Given the description of an element on the screen output the (x, y) to click on. 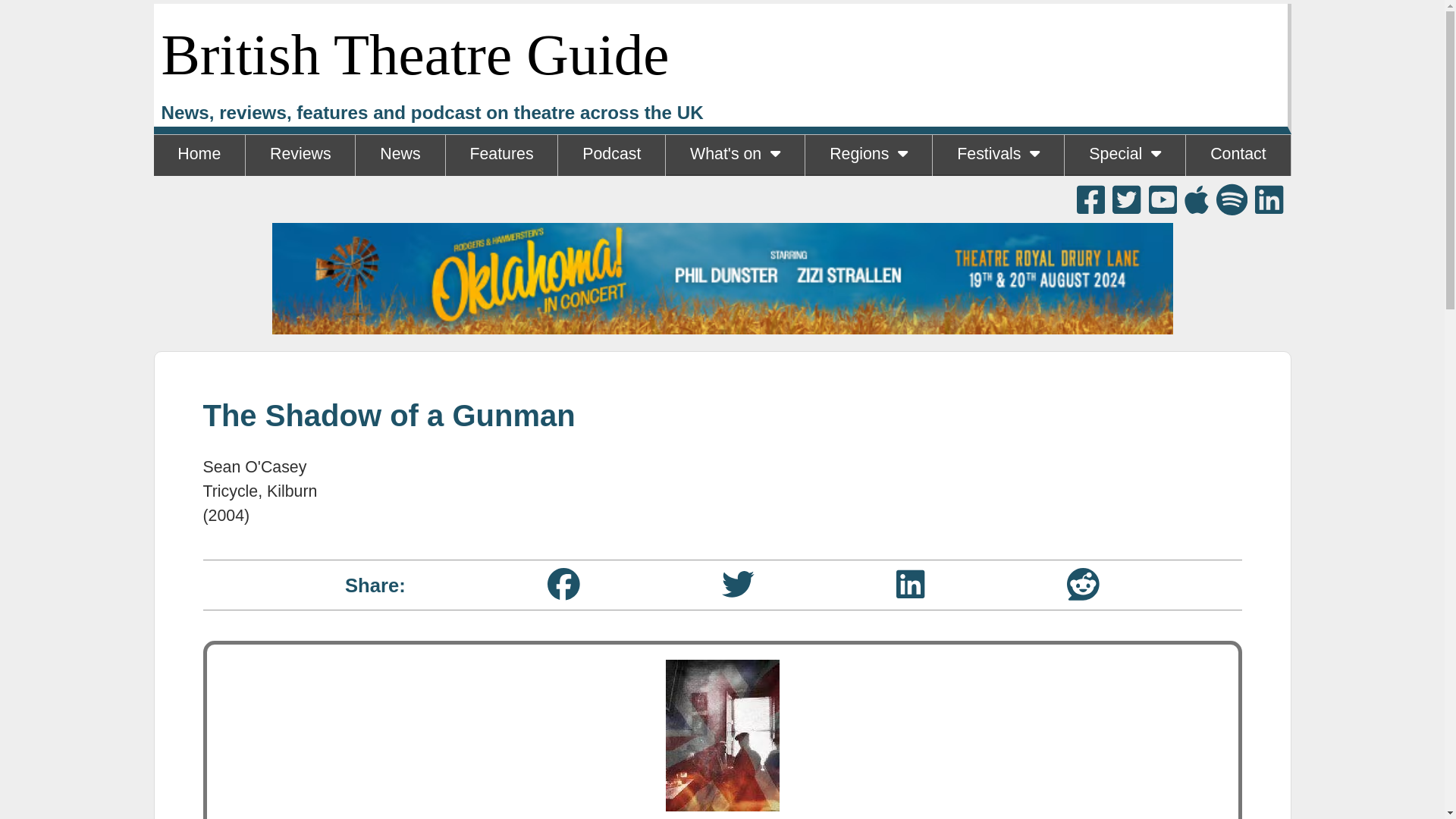
Regions   (868, 155)
Follow us on Facebook (1091, 199)
North West (868, 196)
Edinburgh (997, 196)
News (399, 154)
Twitter (738, 584)
British Theatre Guide (414, 54)
LinkedIn (910, 584)
What's on   (735, 155)
Listings (734, 196)
Reddit (1083, 584)
Facebook (563, 584)
Reviews (300, 154)
Festivals   (998, 155)
Home (198, 154)
